Given the description of an element on the screen output the (x, y) to click on. 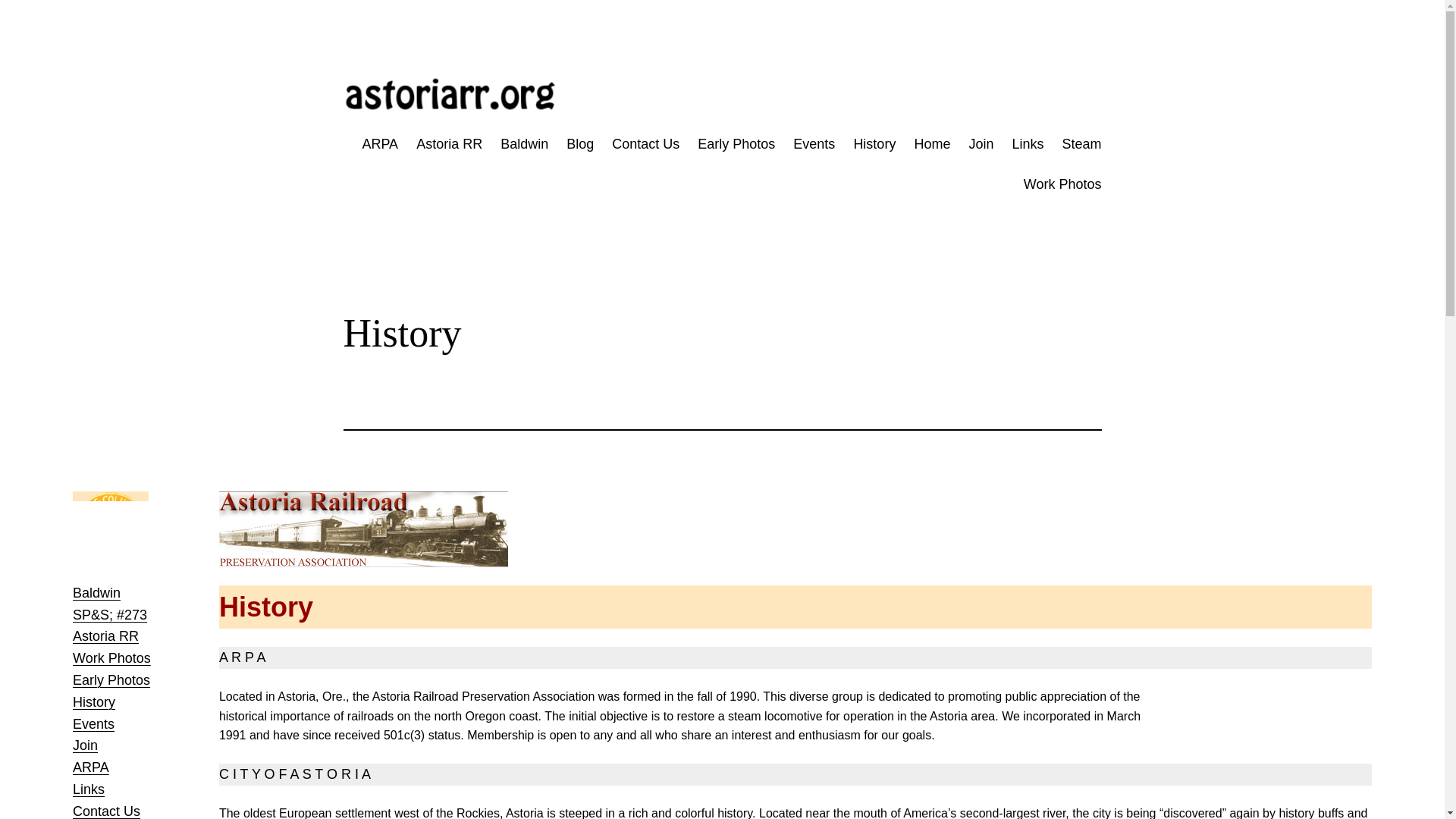
Work Photos (111, 657)
ARPA (90, 767)
ARPA (379, 144)
Contact Us (105, 811)
Baldwin (96, 592)
Baldwin (524, 144)
Home (932, 144)
Early Photos (110, 679)
Links (88, 789)
Links (1027, 144)
Join (980, 144)
History (874, 144)
History (93, 702)
Events (813, 144)
Work Photos (1062, 184)
